Given the description of an element on the screen output the (x, y) to click on. 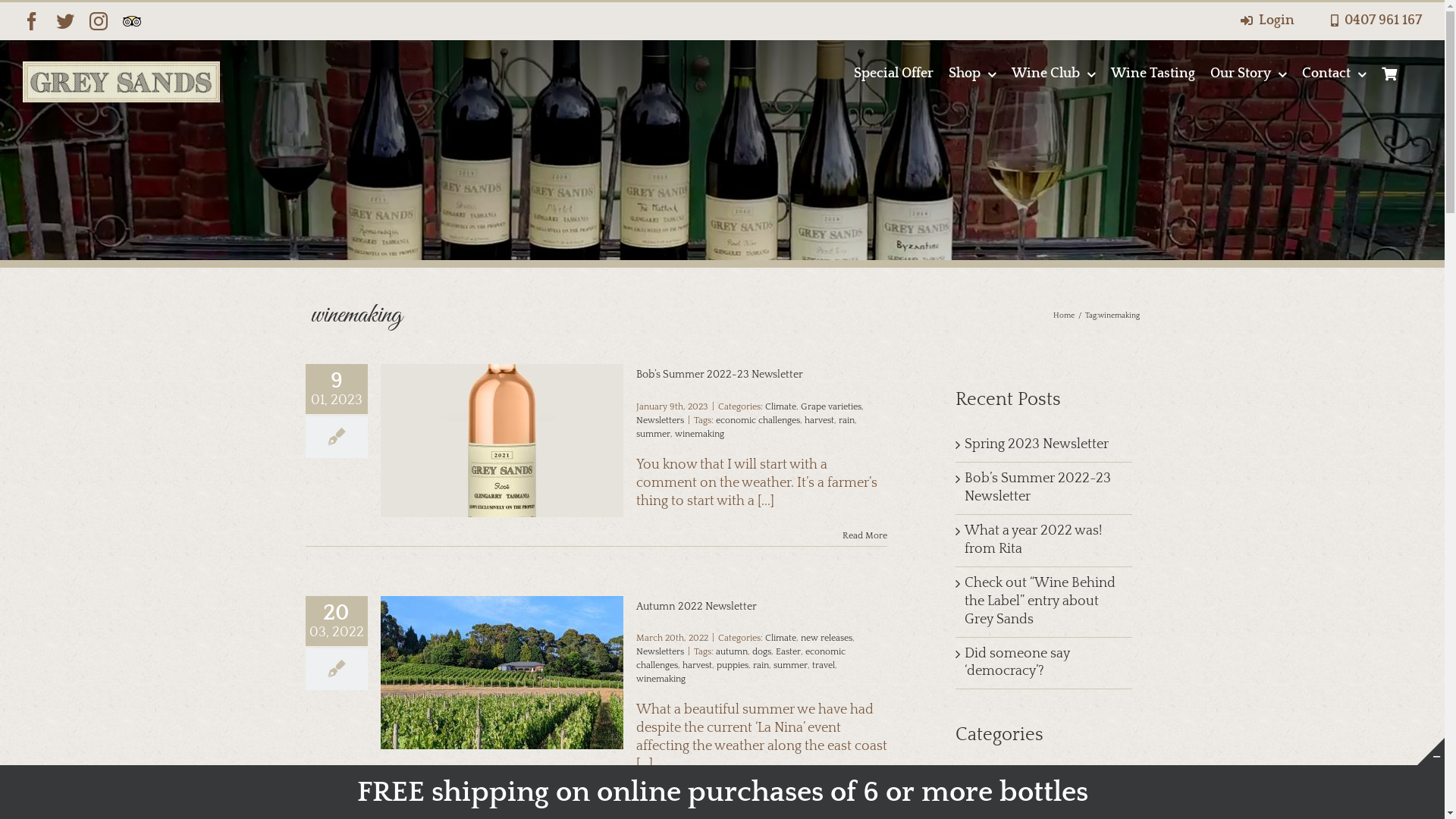
Newsletters Element type: text (659, 651)
economic challenges Element type: text (757, 420)
Read More Element type: text (863, 535)
Spring 2023 Newsletter Element type: text (1036, 443)
Climate Element type: text (779, 406)
dogs Element type: text (761, 651)
puppies Element type: text (731, 665)
autumn Element type: text (731, 651)
Our Story Element type: text (1248, 81)
Wine Tasting Element type: text (1152, 81)
winemaking Element type: text (699, 434)
Grape varieties Element type: text (830, 406)
Home Element type: text (1062, 315)
Toggle Sliding Bar Area Element type: text (1430, 751)
economic challenges Element type: text (739, 658)
0407 961 167 Element type: text (1372, 21)
Wine Club Element type: text (1053, 81)
summer Element type: text (652, 434)
Easter Element type: text (787, 651)
Accolades Element type: text (1044, 780)
Climate Element type: text (779, 638)
winemaking Element type: text (659, 679)
Shop Element type: text (972, 81)
Contact Element type: text (1334, 81)
travel Element type: text (822, 665)
new releases Element type: text (826, 638)
summer Element type: text (790, 665)
Autumn 2022 Newsletter Element type: text (695, 606)
harvest Element type: text (818, 420)
Special Offer Element type: text (893, 81)
Login Element type: text (1264, 21)
harvest Element type: text (697, 665)
Read More Element type: text (863, 798)
rain Element type: text (760, 665)
rain Element type: text (846, 420)
What a year 2022 was! from Rita Element type: text (1032, 539)
Newsletters Element type: text (659, 420)
